Given the description of an element on the screen output the (x, y) to click on. 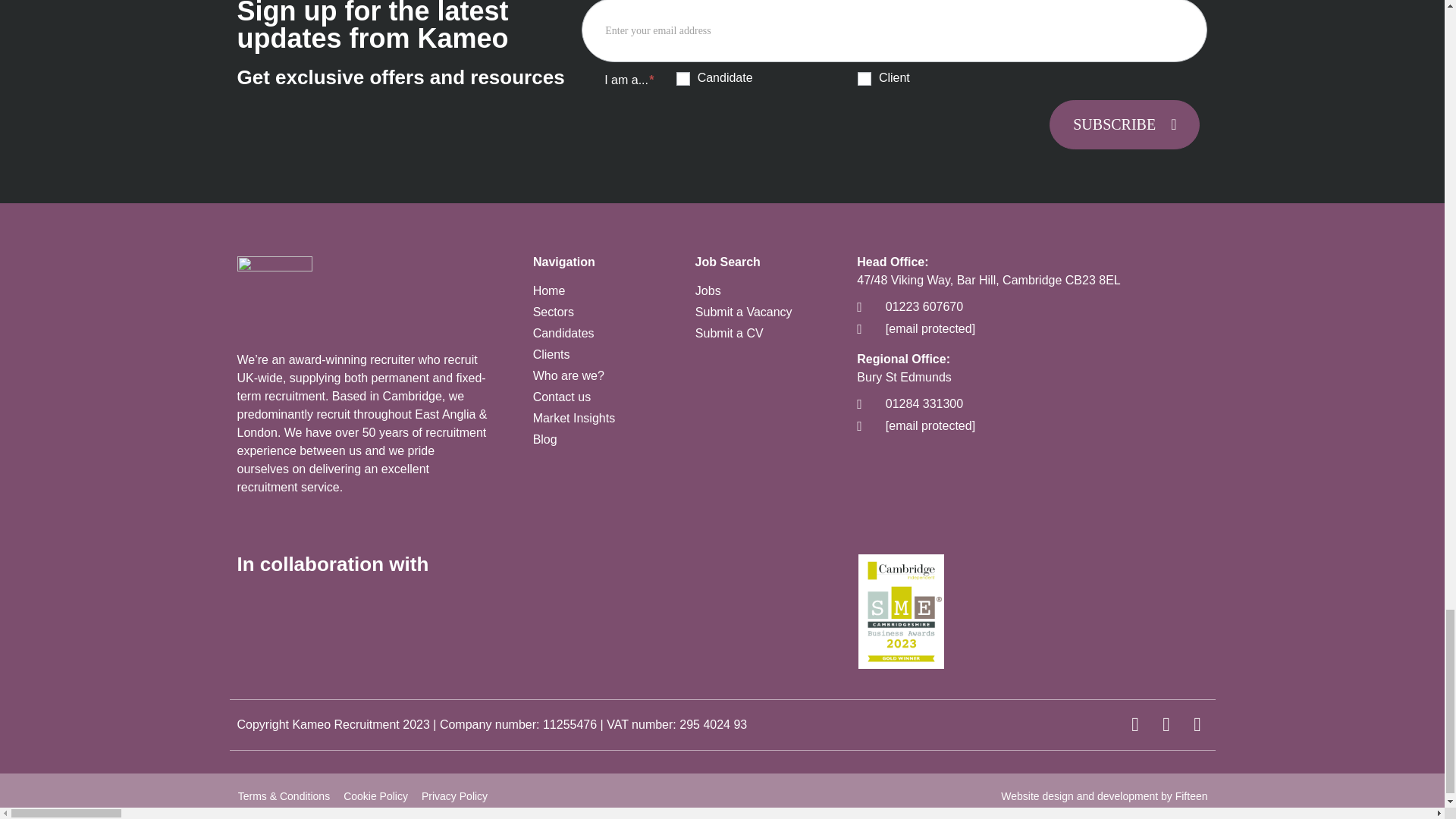
Fifteen (1191, 796)
Candidate (683, 78)
website design and development by Fifteen (1079, 796)
Client (863, 78)
